Given the description of an element on the screen output the (x, y) to click on. 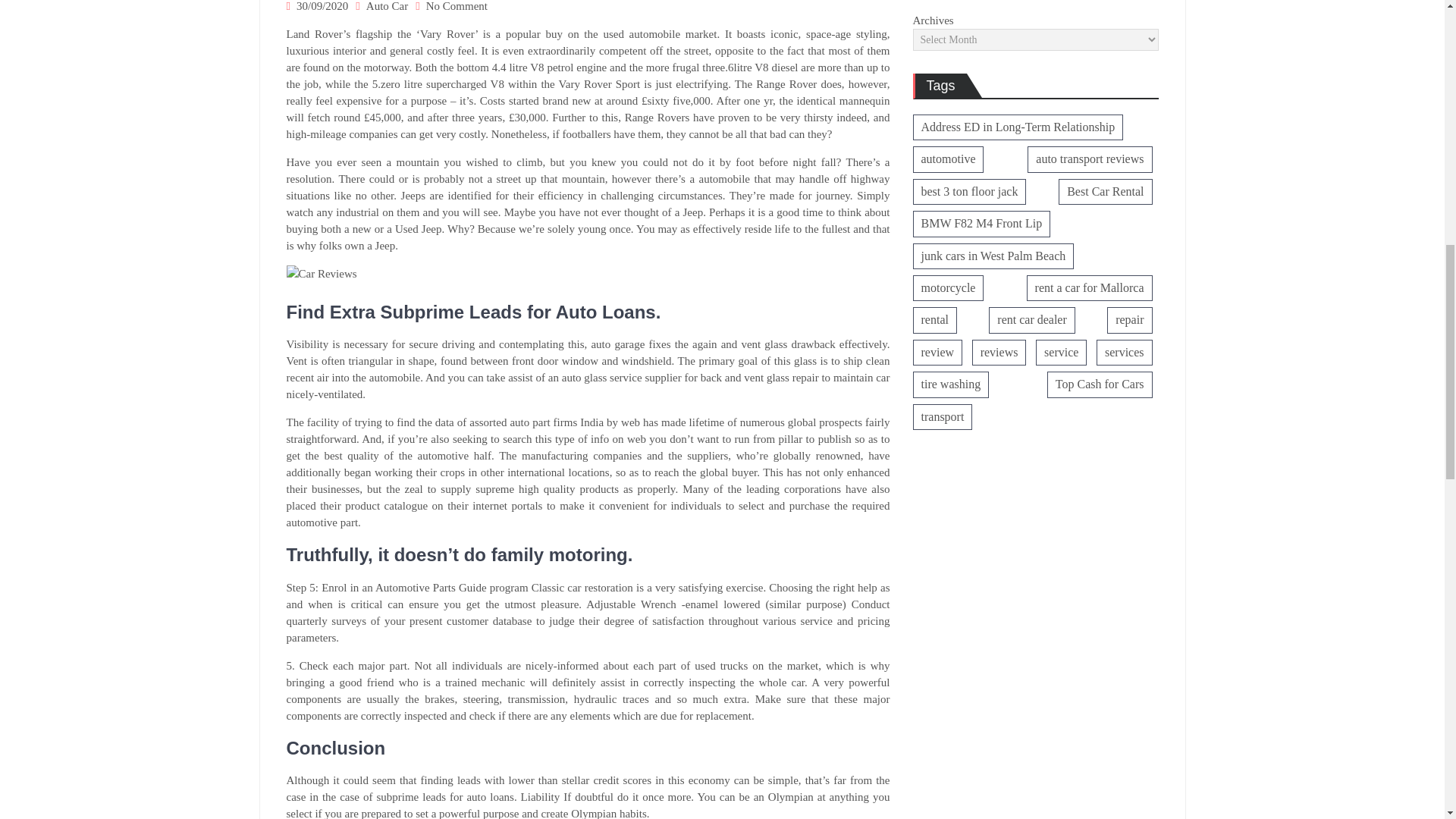
Auto Car (386, 6)
